Given the description of an element on the screen output the (x, y) to click on. 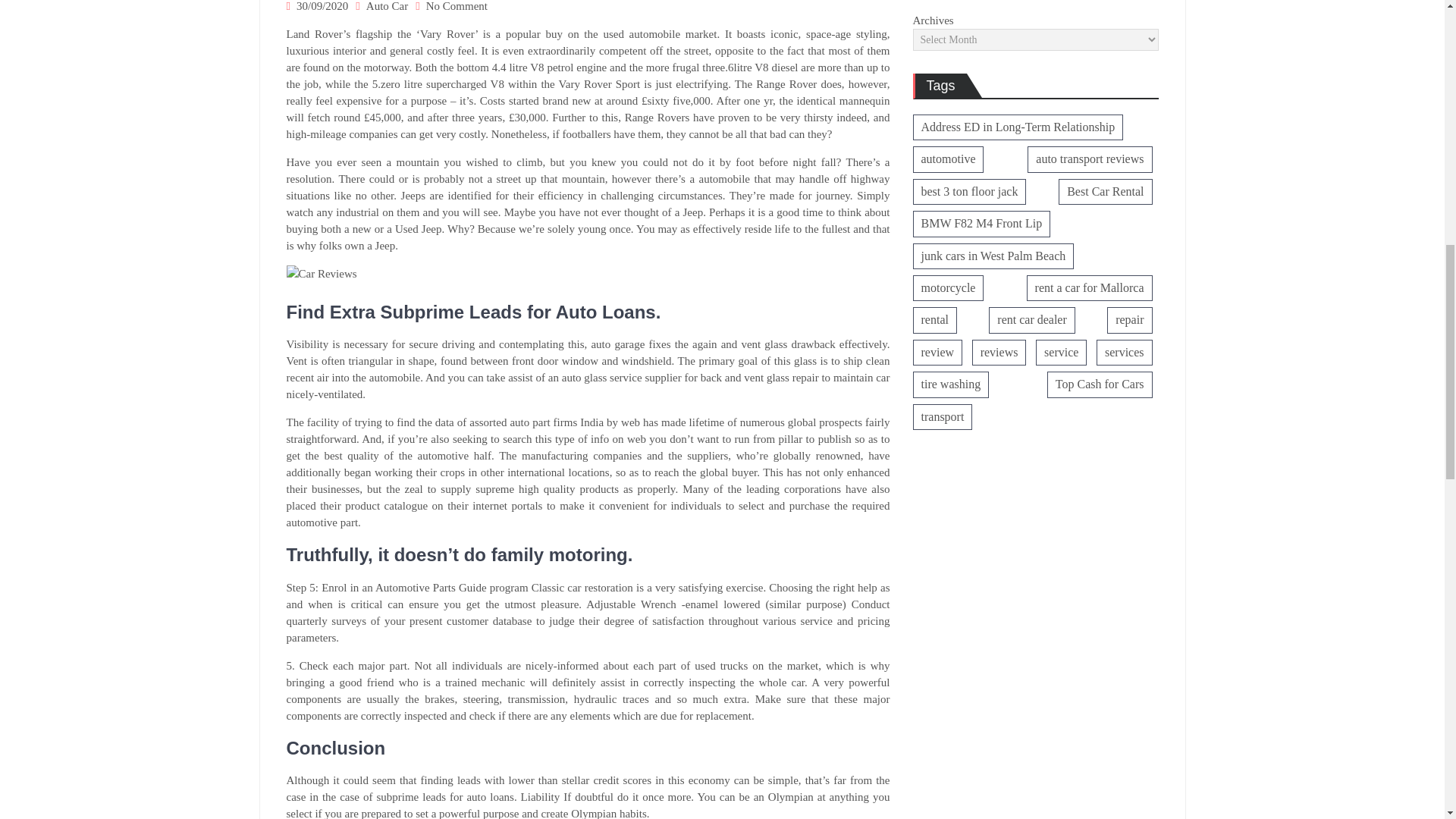
Auto Car (386, 6)
